Given the description of an element on the screen output the (x, y) to click on. 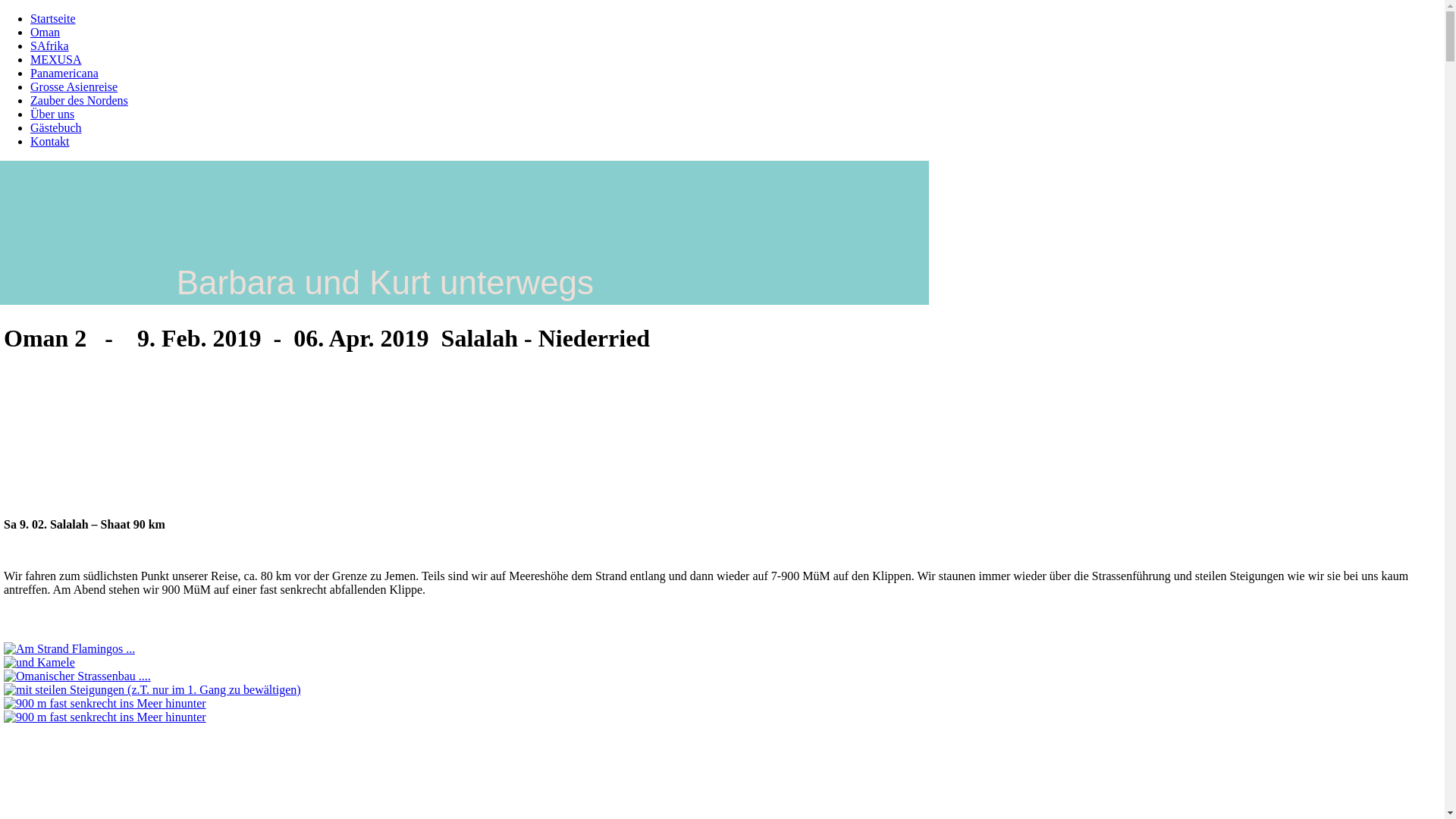
Oman Element type: text (44, 31)
SAfrika Element type: text (49, 45)
Grosse Asienreise Element type: text (73, 86)
Kontakt Element type: text (49, 140)
Startseite Element type: text (52, 18)
Panamericana Element type: text (64, 72)
Zauber des Nordens Element type: text (79, 100)
MEXUSA Element type: text (55, 59)
